Given the description of an element on the screen output the (x, y) to click on. 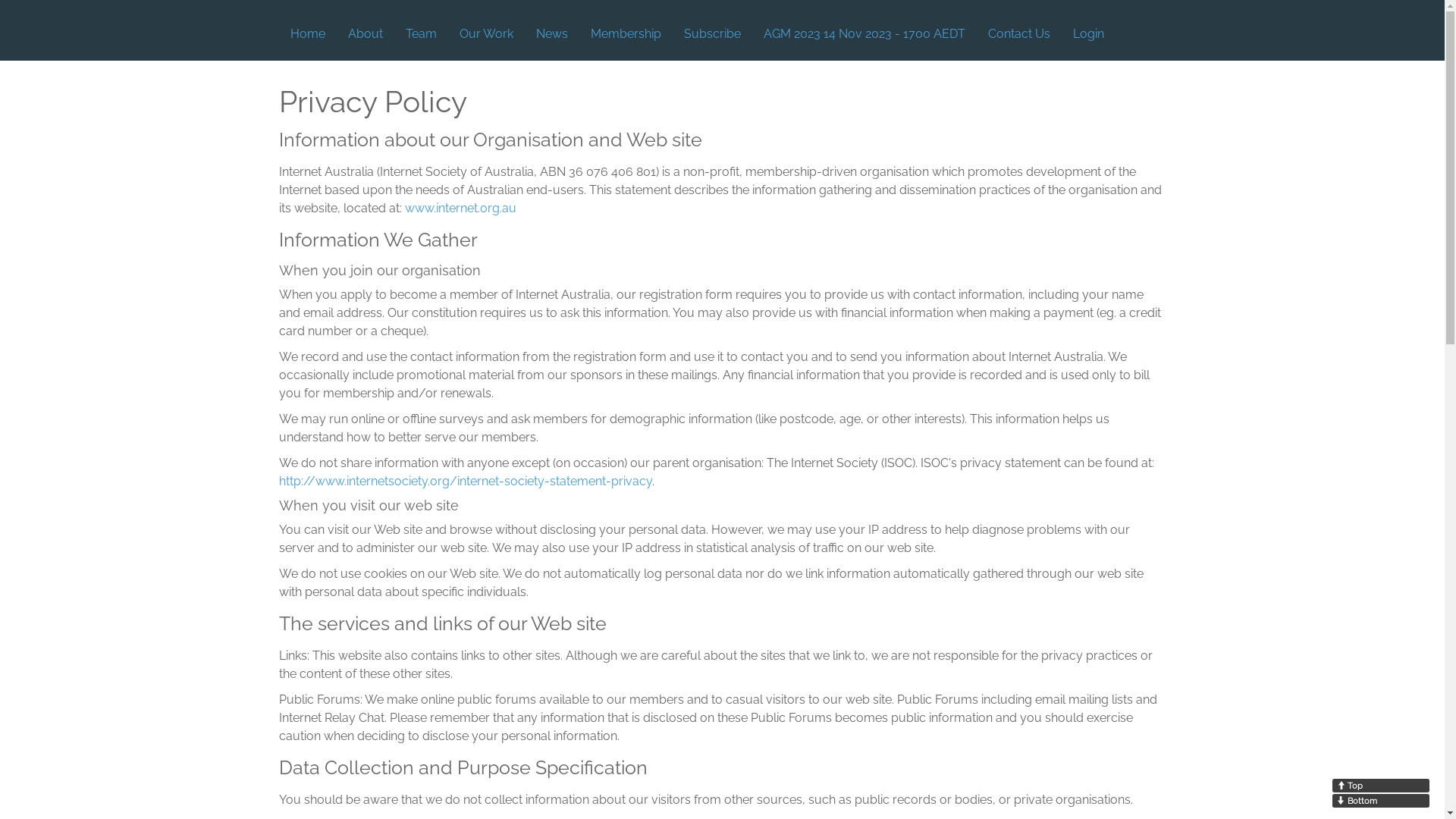
Contact Us Element type: text (1018, 33)
About Element type: text (365, 33)
Team Element type: text (421, 33)
  Element type: text (1127, 33)
AGM 2023 14 Nov 2023 - 1700 AEDT Element type: text (864, 33)
Our Work Element type: text (485, 33)
Login Element type: text (1088, 33)
News Element type: text (551, 33)
Membership Element type: text (625, 33)
Subscribe Element type: text (711, 33)
www.internet.org.au Element type: text (460, 207)
Home Element type: text (307, 33)
